Given the description of an element on the screen output the (x, y) to click on. 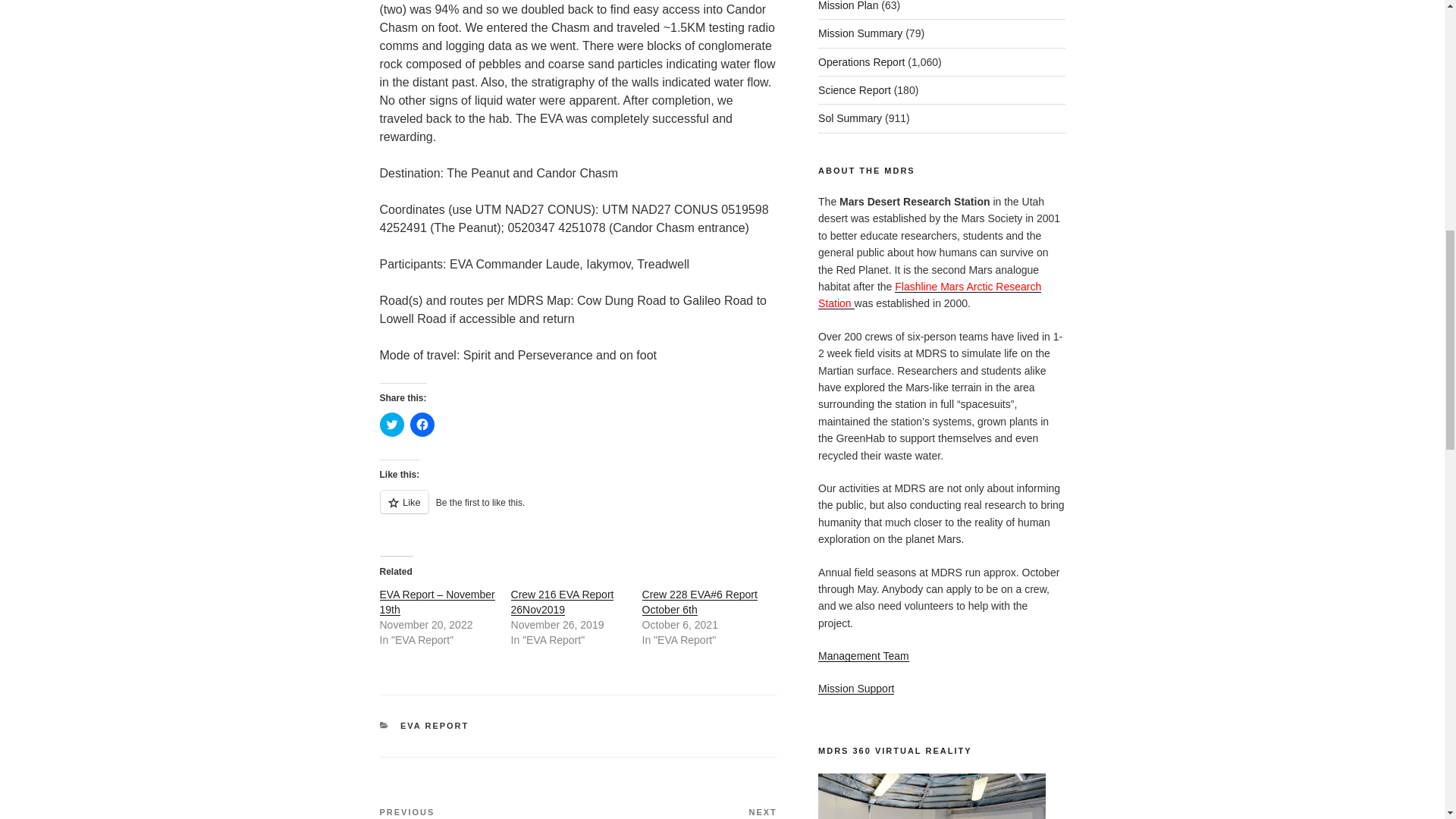
Click to share on Facebook (421, 424)
EVA REPORT (434, 725)
Like or Reblog (577, 510)
Crew 216 EVA Report 26Nov2019 (562, 601)
Crew 216 EVA Report 26Nov2019 (562, 601)
Click to share on Twitter (390, 424)
